Given the description of an element on the screen output the (x, y) to click on. 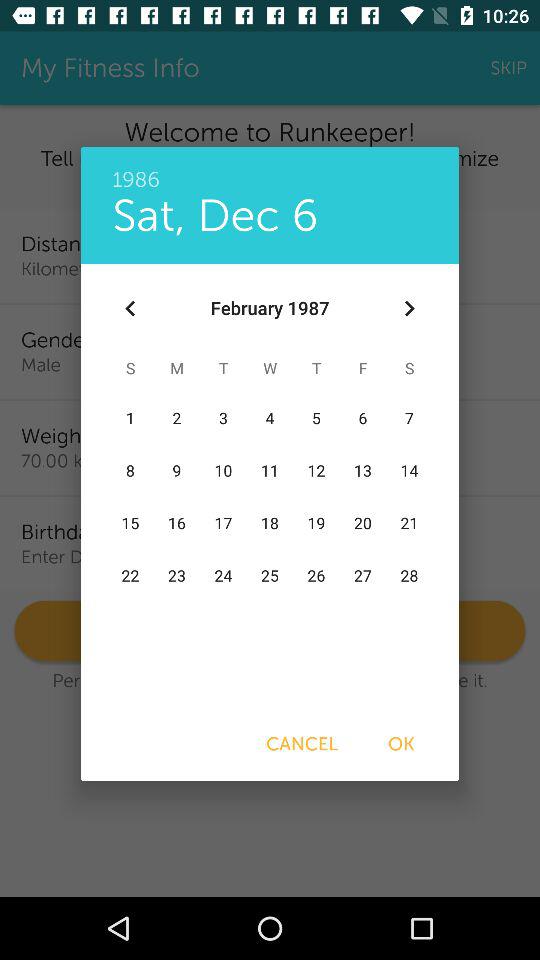
tap icon at the bottom right corner (401, 743)
